Given the description of an element on the screen output the (x, y) to click on. 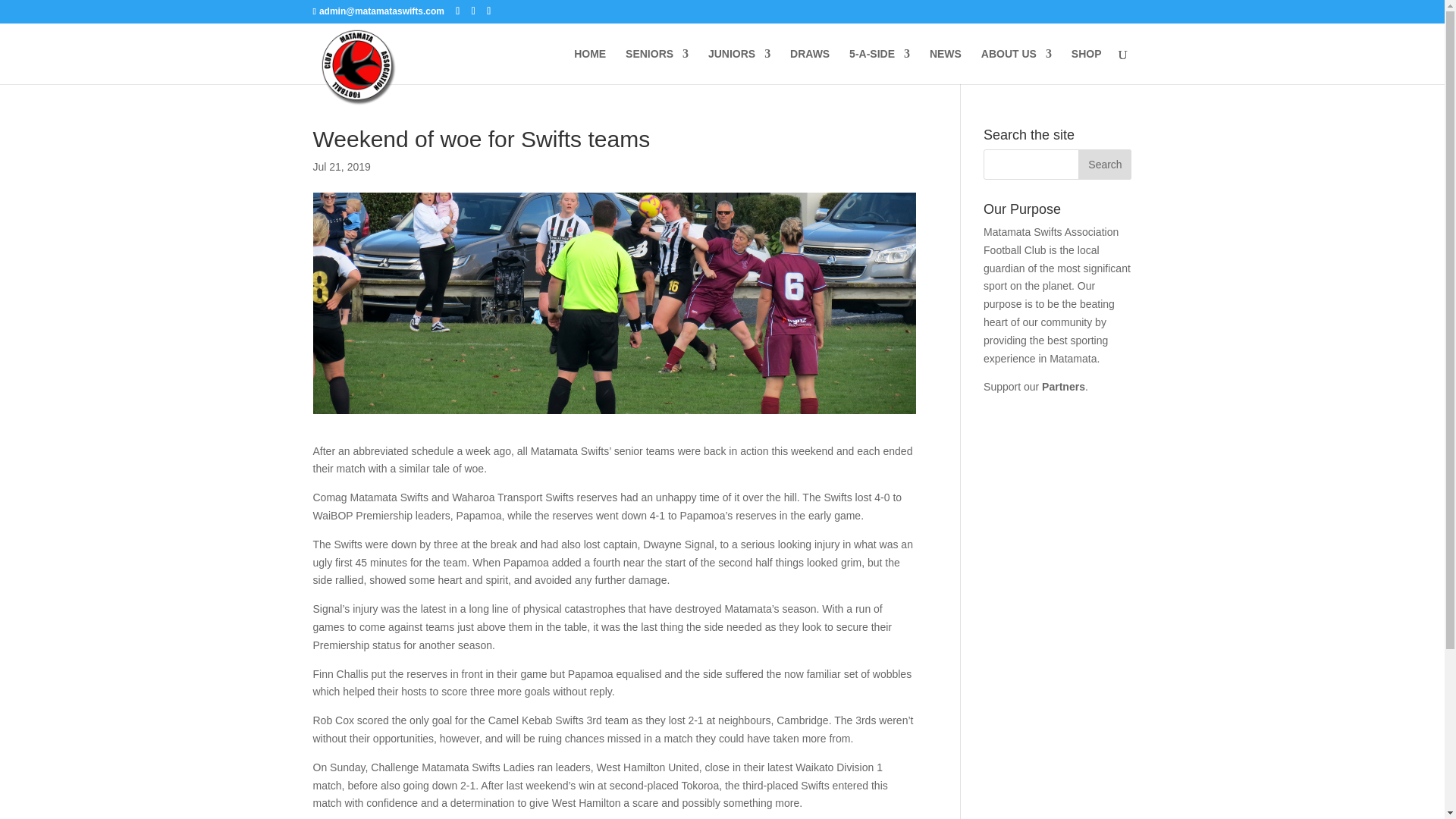
HOME (589, 66)
SENIORS (657, 66)
5-A-SIDE (879, 66)
ABOUT US (1016, 66)
NEWS (945, 66)
Search (1104, 164)
JUNIORS (738, 66)
DRAWS (809, 66)
